Given the description of an element on the screen output the (x, y) to click on. 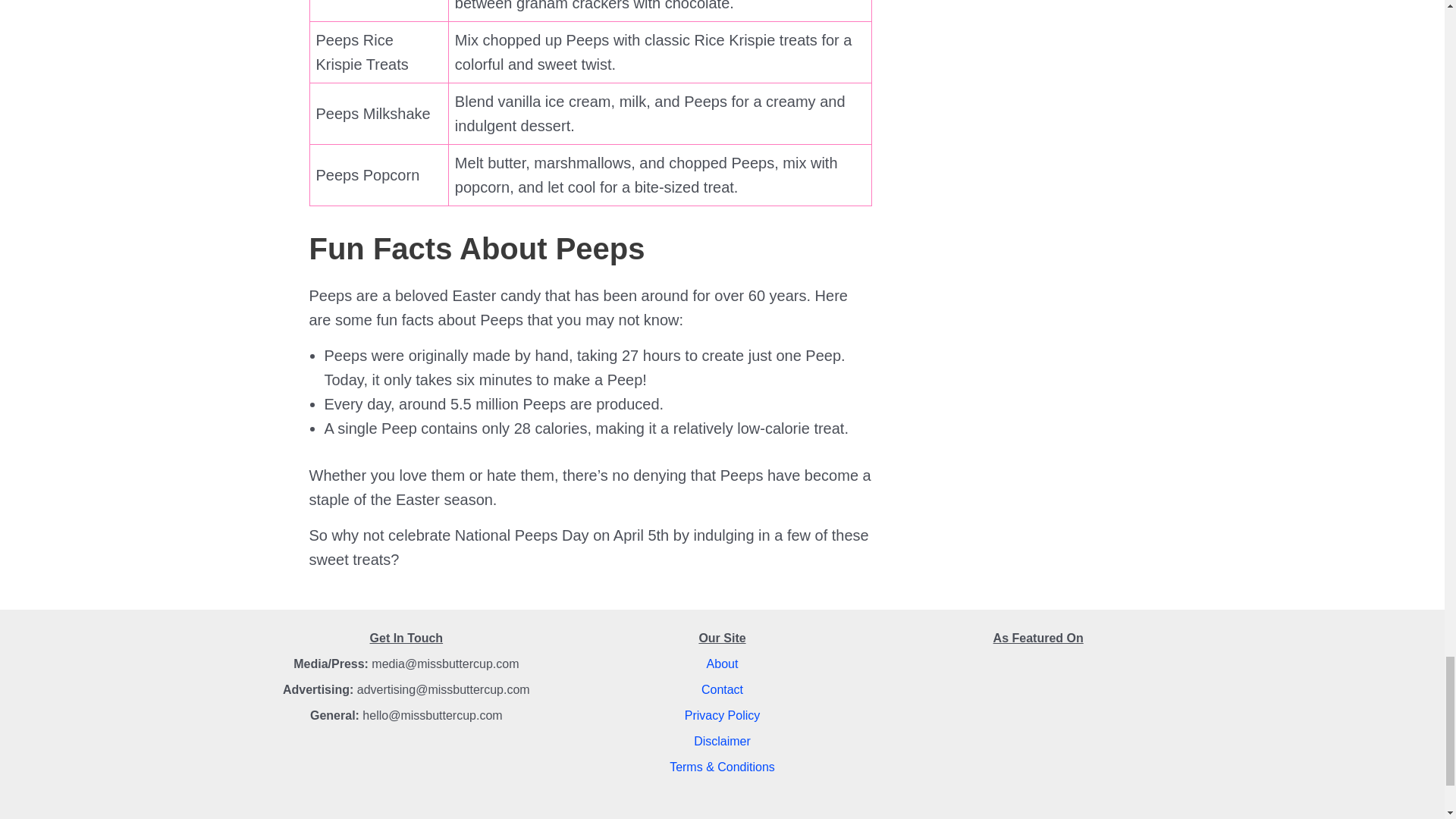
Privacy Policy (722, 715)
Disclaimer (722, 740)
About (722, 663)
Contact (721, 689)
